Given the description of an element on the screen output the (x, y) to click on. 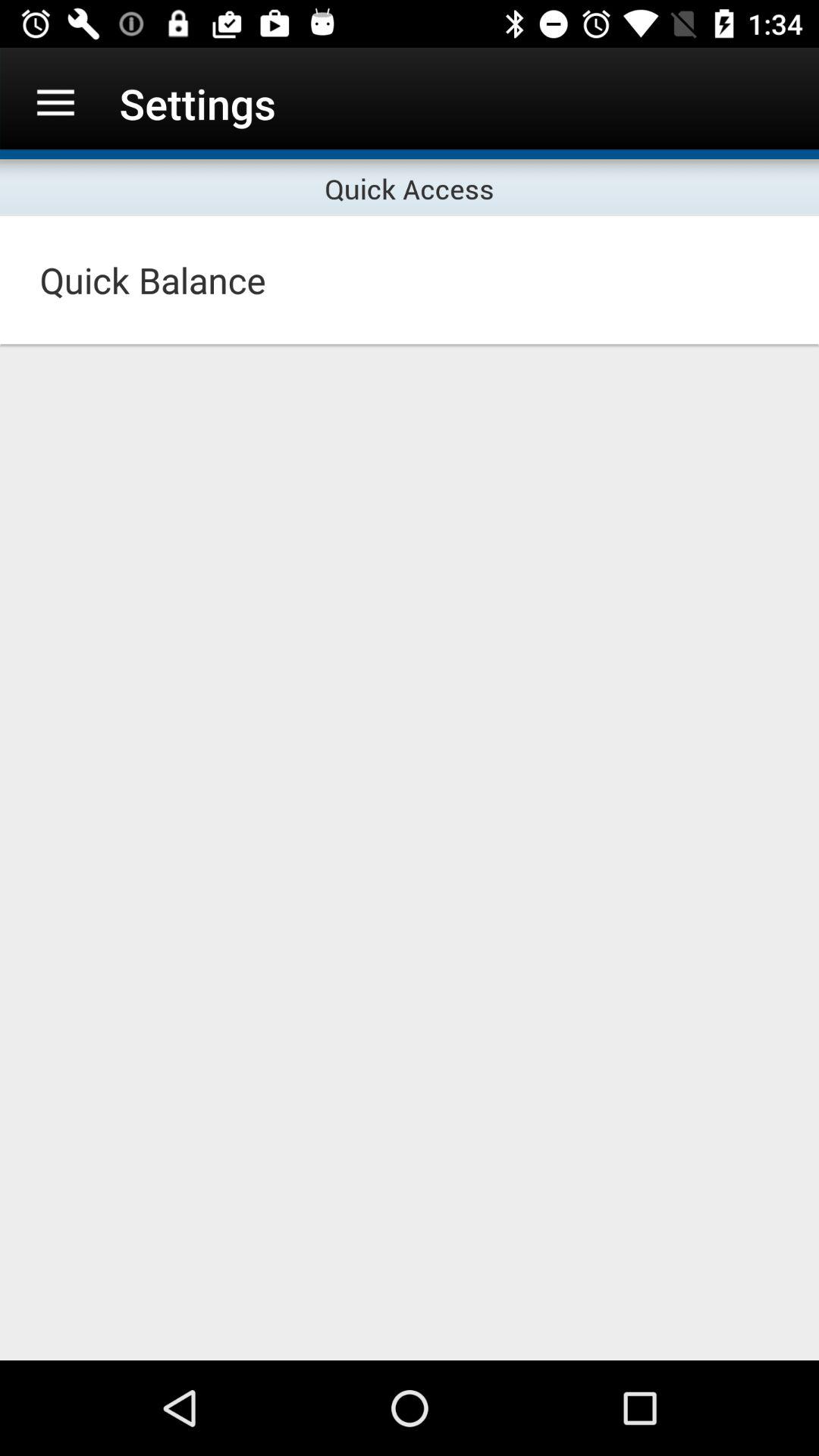
open app next to the settings icon (55, 103)
